Given the description of an element on the screen output the (x, y) to click on. 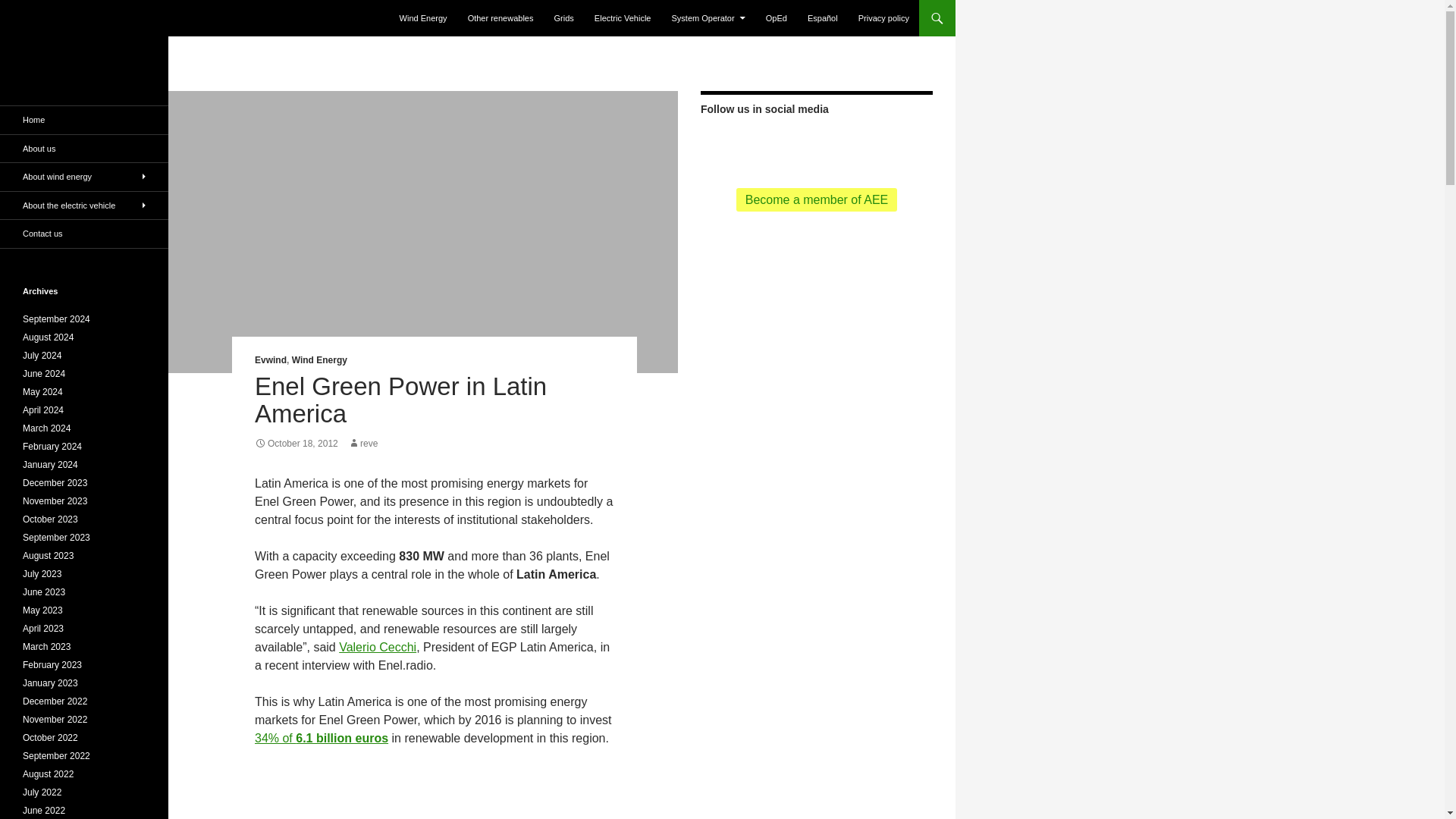
Evwind (270, 359)
Wind Energy (423, 18)
twitter (743, 143)
facebook (767, 143)
youtube (792, 143)
Tiktok (840, 143)
Grids (563, 18)
System Operator (708, 18)
Become a member of AEE (817, 199)
Electric Vehicle (623, 18)
